Given the description of an element on the screen output the (x, y) to click on. 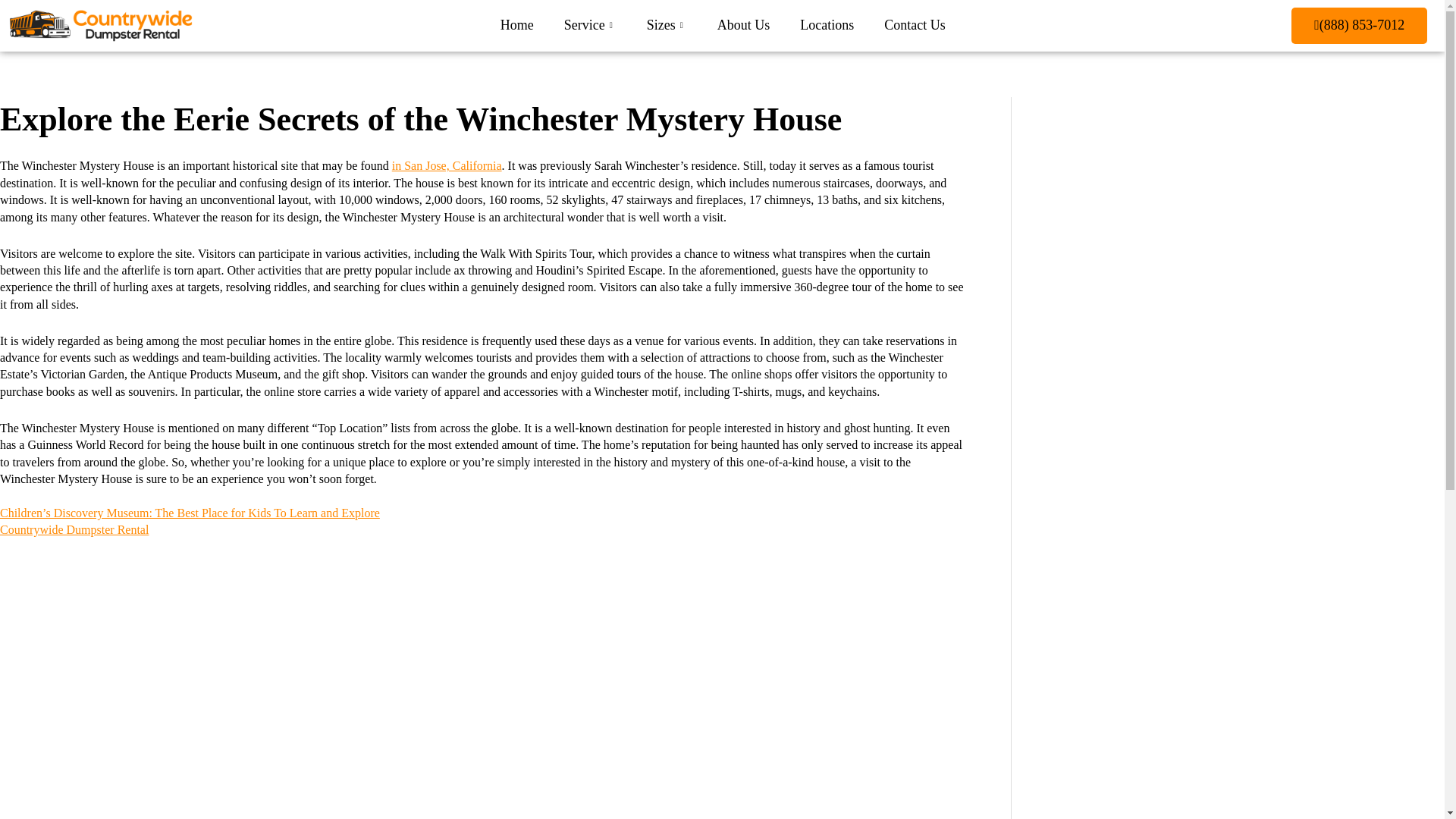
About Us (743, 25)
Service (589, 25)
Contact Us (914, 25)
Sizes (666, 25)
Locations (826, 25)
Home (516, 25)
